Given the description of an element on the screen output the (x, y) to click on. 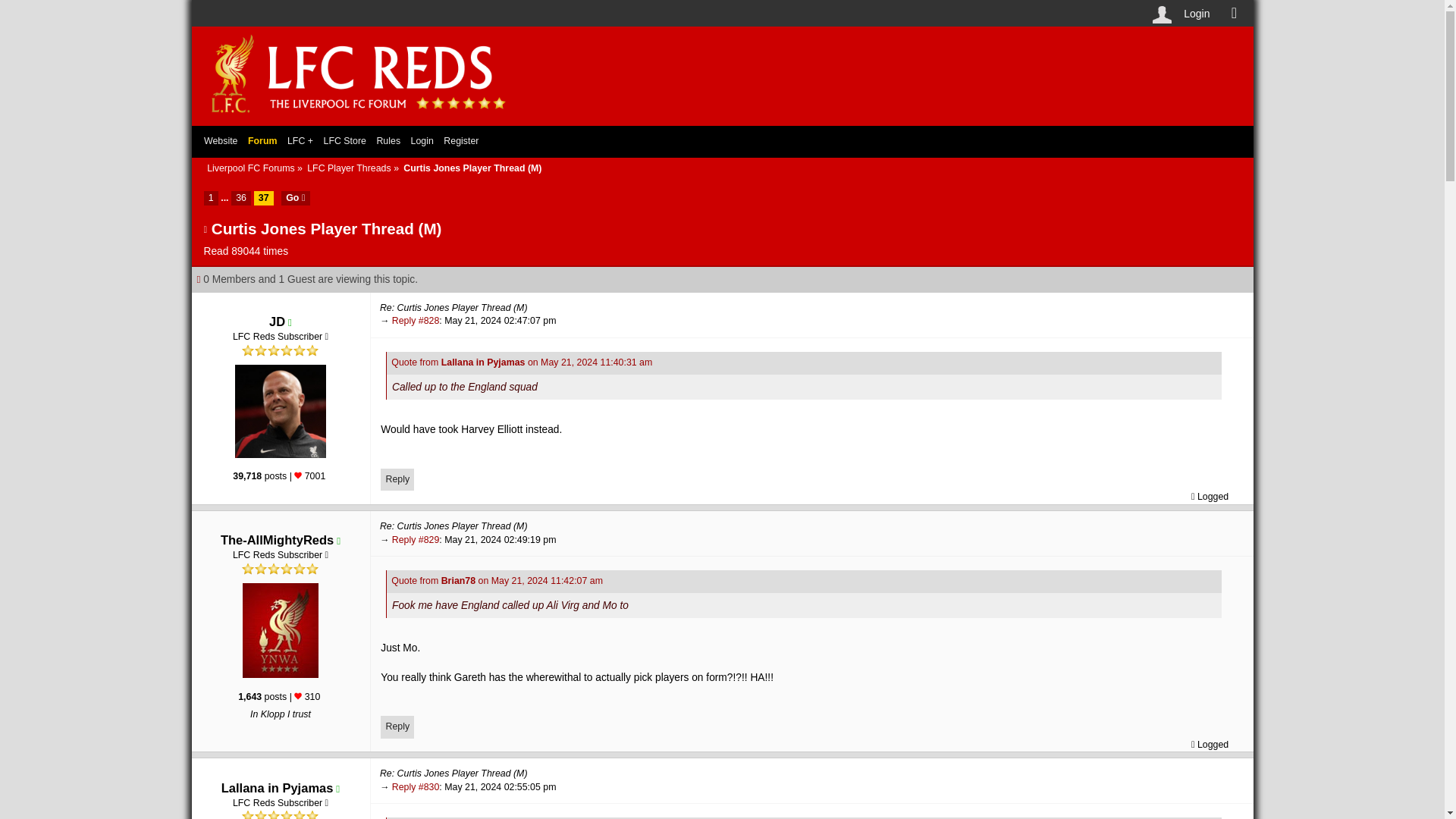
View the profile of Lallana in Pyjamas (277, 787)
View the profile of The-AllMightyReds (277, 540)
Login (1195, 13)
Post Rating (297, 696)
View the profile of JD (277, 321)
LFC Reds Forum (361, 118)
Post Rating (297, 475)
